Given the description of an element on the screen output the (x, y) to click on. 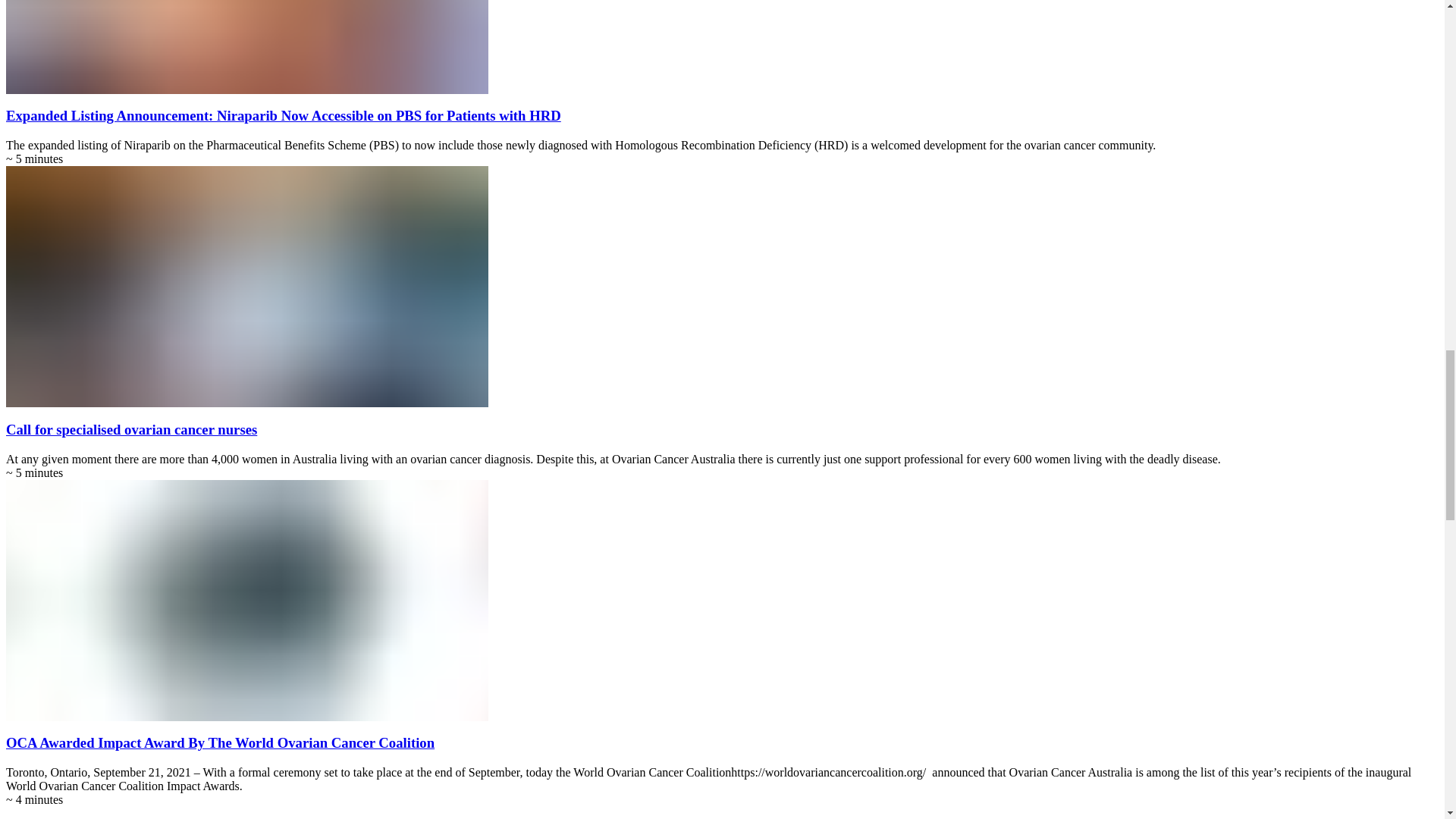
Call for specialised ovarian cancer nurses (131, 429)
